Given the description of an element on the screen output the (x, y) to click on. 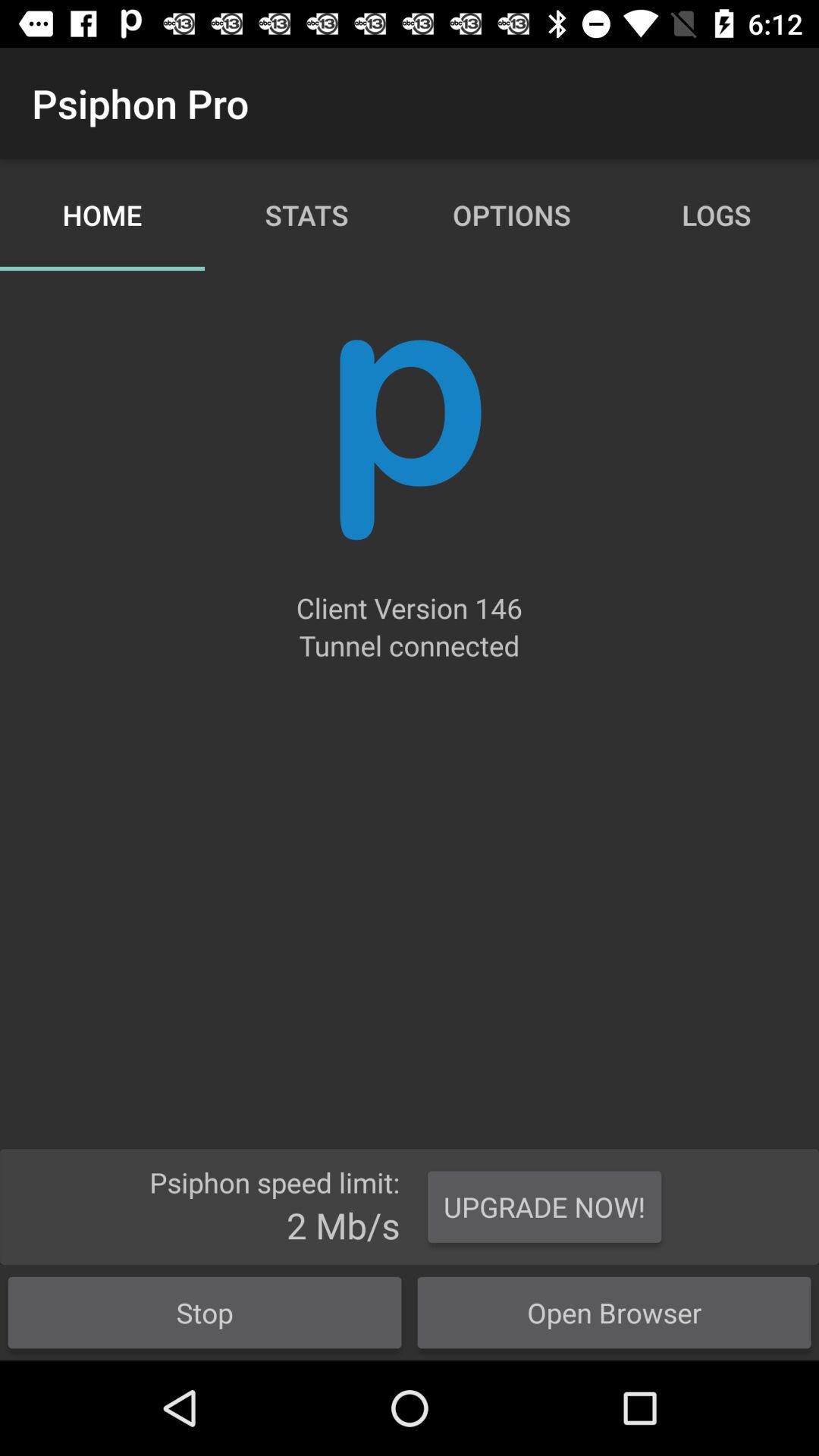
jump until the upgrade now! item (544, 1206)
